Given the description of an element on the screen output the (x, y) to click on. 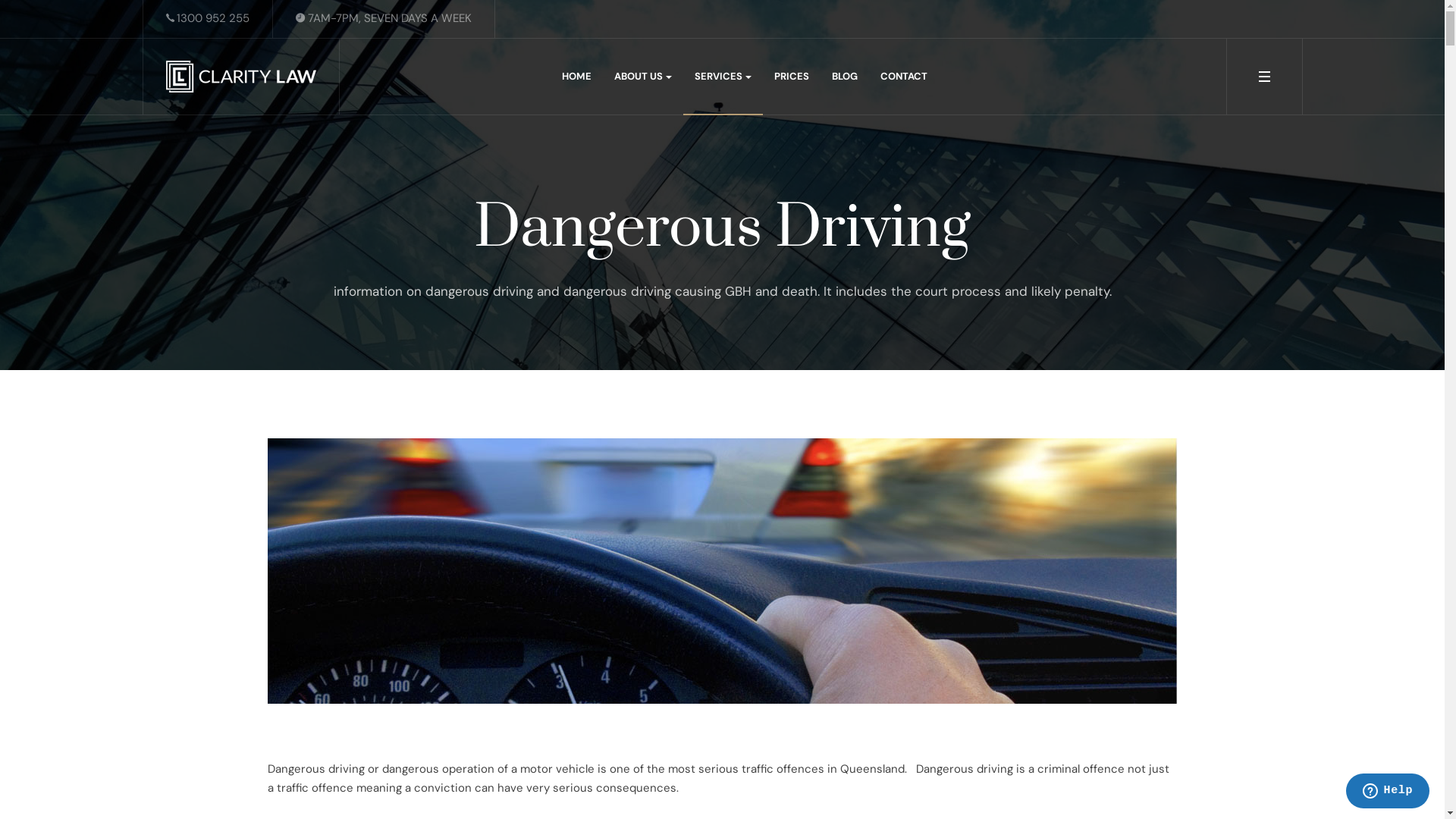
Driving Law Element type: hover (240, 76)
BLOG Element type: text (844, 76)
ABOUT US Element type: text (642, 76)
7AM-7PM, SEVEN DAYS A WEEK Element type: text (383, 18)
1300 952 255 Element type: text (207, 18)
HOME Element type: text (576, 76)
PRICES Element type: text (791, 76)
Opens a widget where you can chat to one of our agents Element type: hover (1387, 792)
SERVICES Element type: text (722, 76)
CONTACT Element type: text (903, 76)
